Given the description of an element on the screen output the (x, y) to click on. 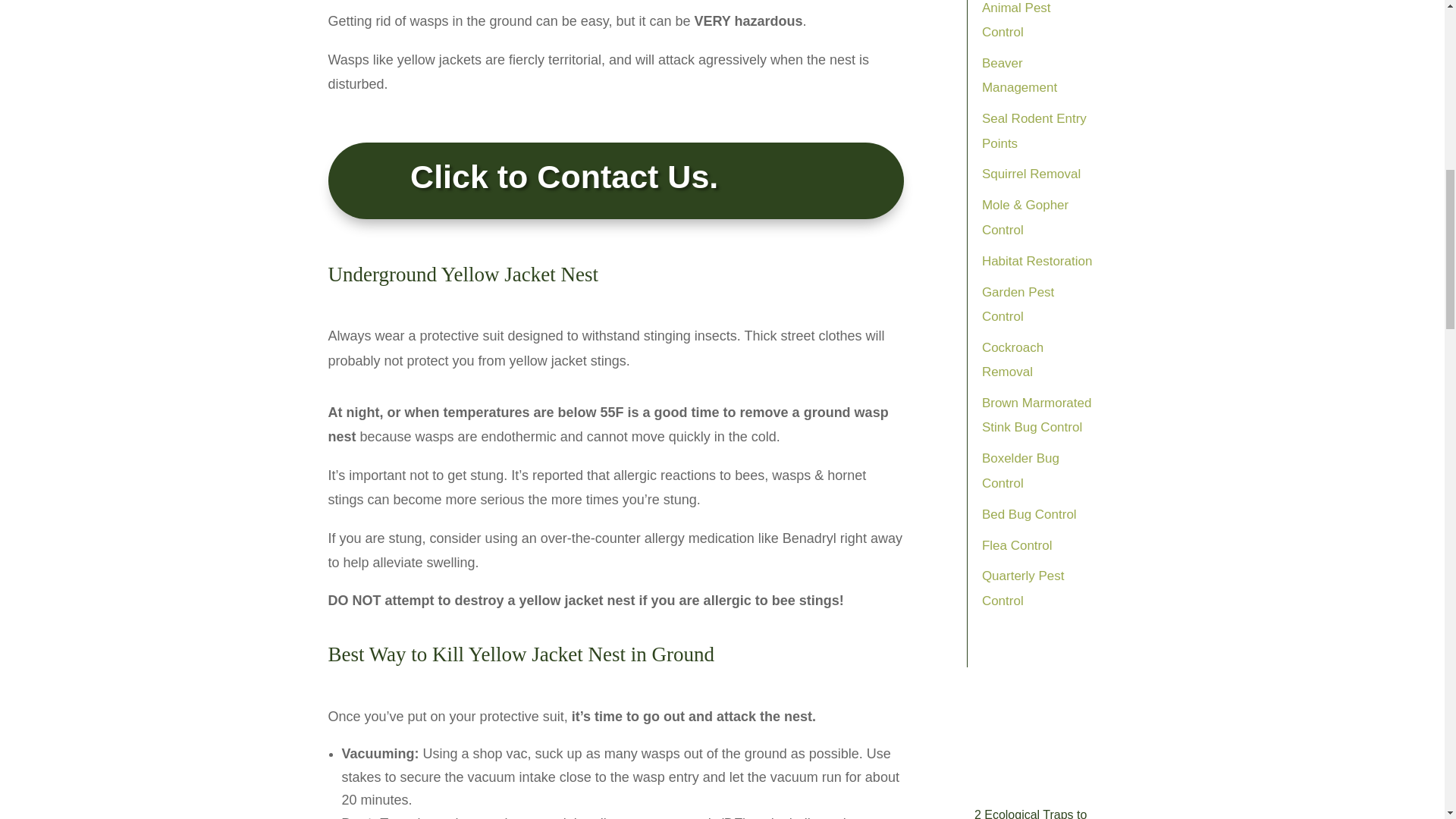
Boxelder Bug Control (1020, 470)
Brown Marmorated Stink Bug Control (1036, 414)
2 Ecological Traps to Avoid in Your Backyard Habitat (1036, 813)
Seal Rodent Entry Points (1033, 130)
Cockroach Removal (1012, 359)
Squirrel Removal (1030, 173)
Animal Pest Control (1016, 19)
Bed Bug Control (1029, 513)
Garden Pest Control (1017, 304)
Flea Control (1016, 545)
